Given the description of an element on the screen output the (x, y) to click on. 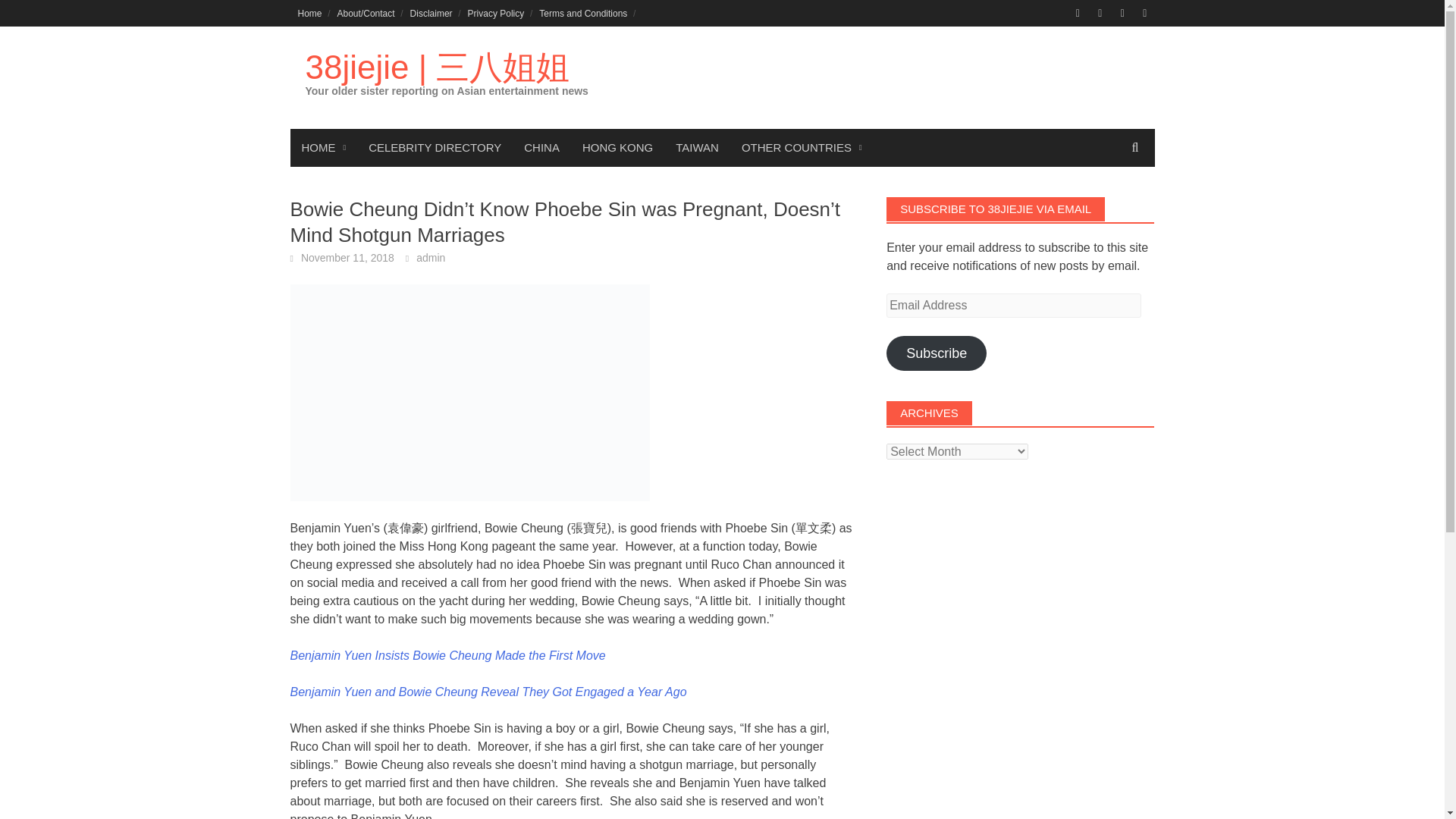
admin (430, 257)
Privacy Policy (496, 13)
TAIWAN (696, 147)
Benjamin Yuen Insists Bowie Cheung Made the First Move (447, 655)
HOME (322, 147)
November 11, 2018 (347, 257)
CELEBRITY DIRECTORY (434, 147)
Disclaimer (431, 13)
CHINA (541, 147)
